Given the description of an element on the screen output the (x, y) to click on. 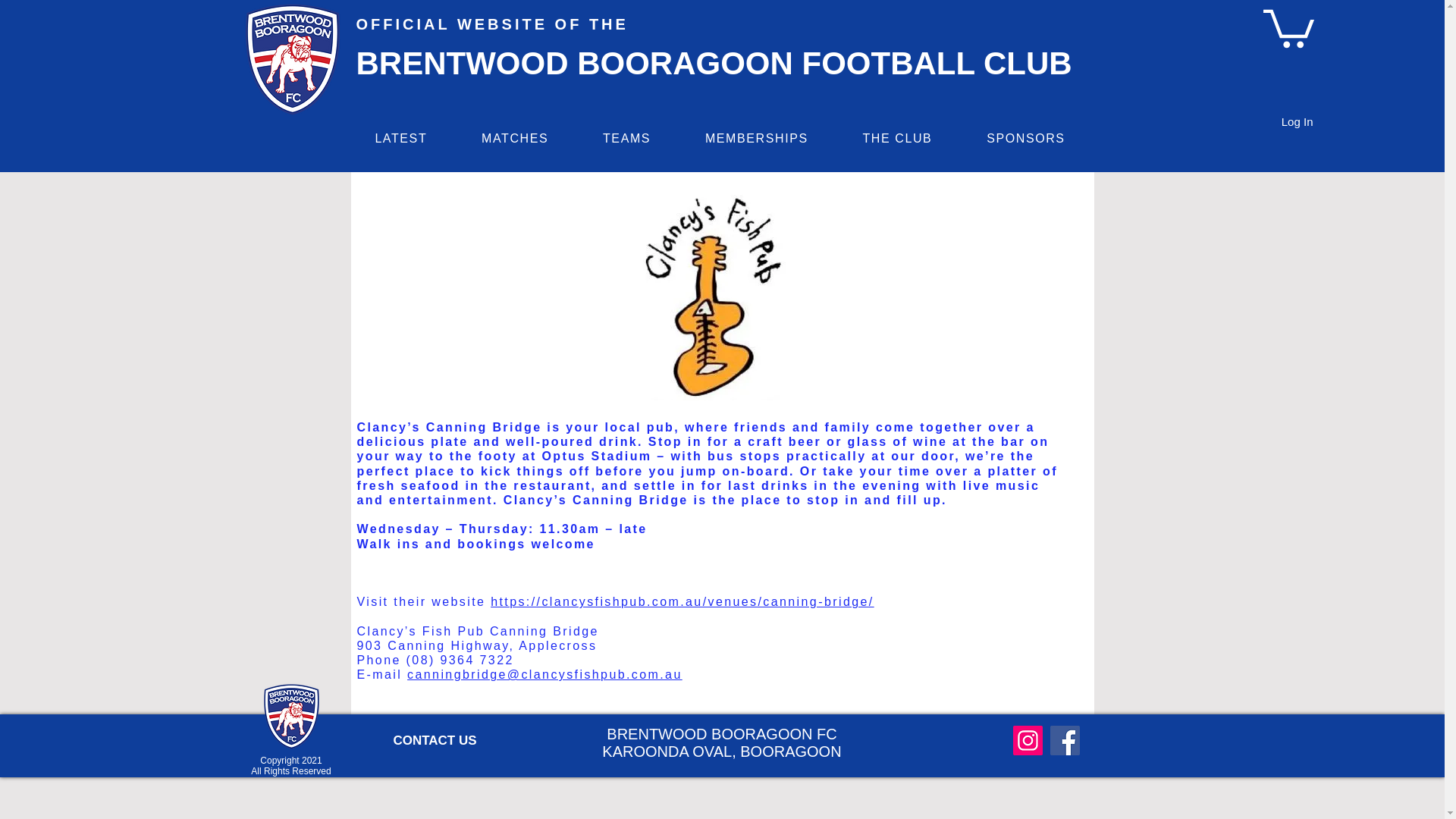
MEMBERSHIPS (756, 138)
SPONSORS (1025, 138)
THE CLUB (897, 138)
Log In (1297, 121)
LATEST (400, 138)
